Given the description of an element on the screen output the (x, y) to click on. 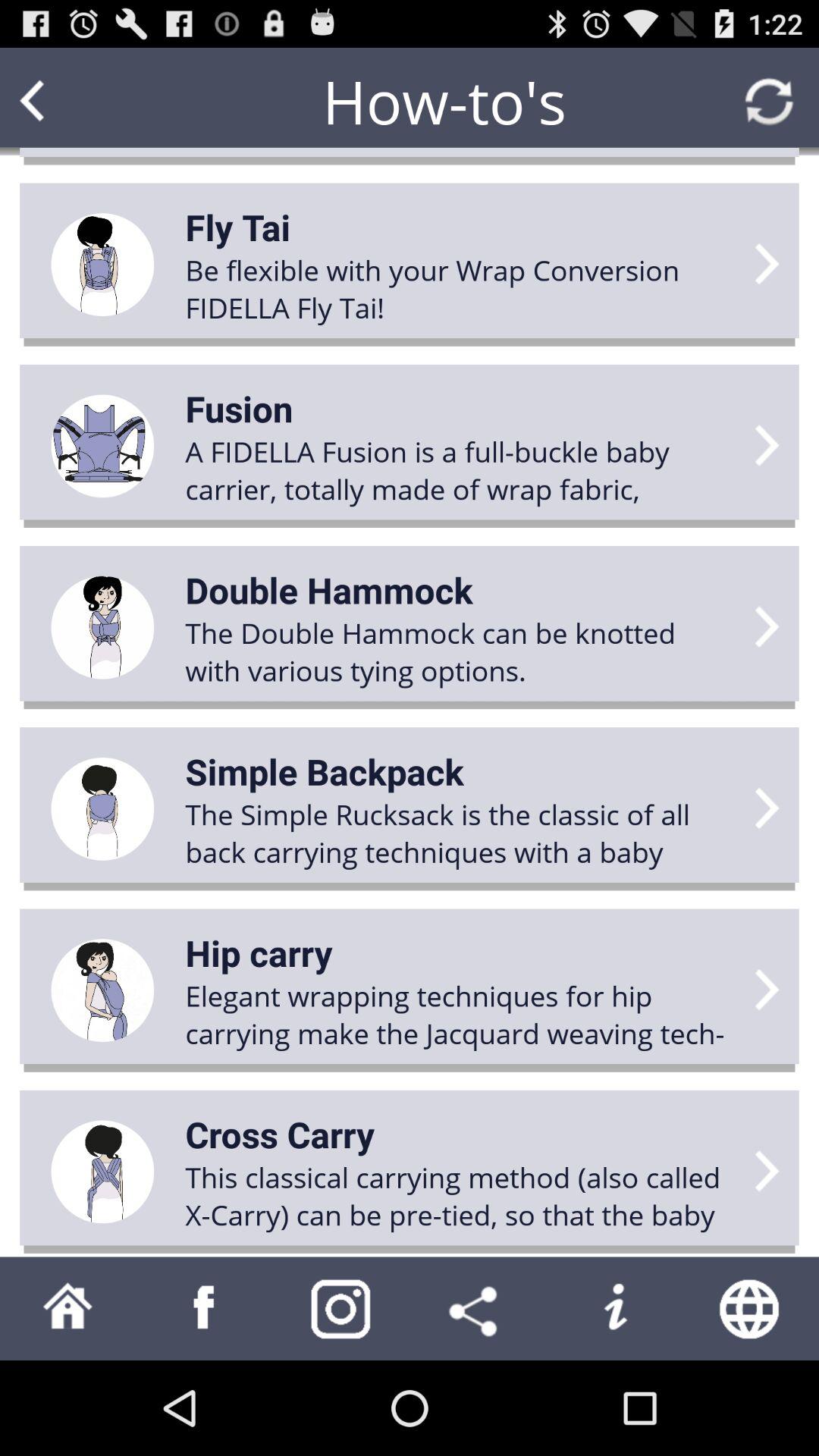
press the app below this classical carrying item (614, 1308)
